Given the description of an element on the screen output the (x, y) to click on. 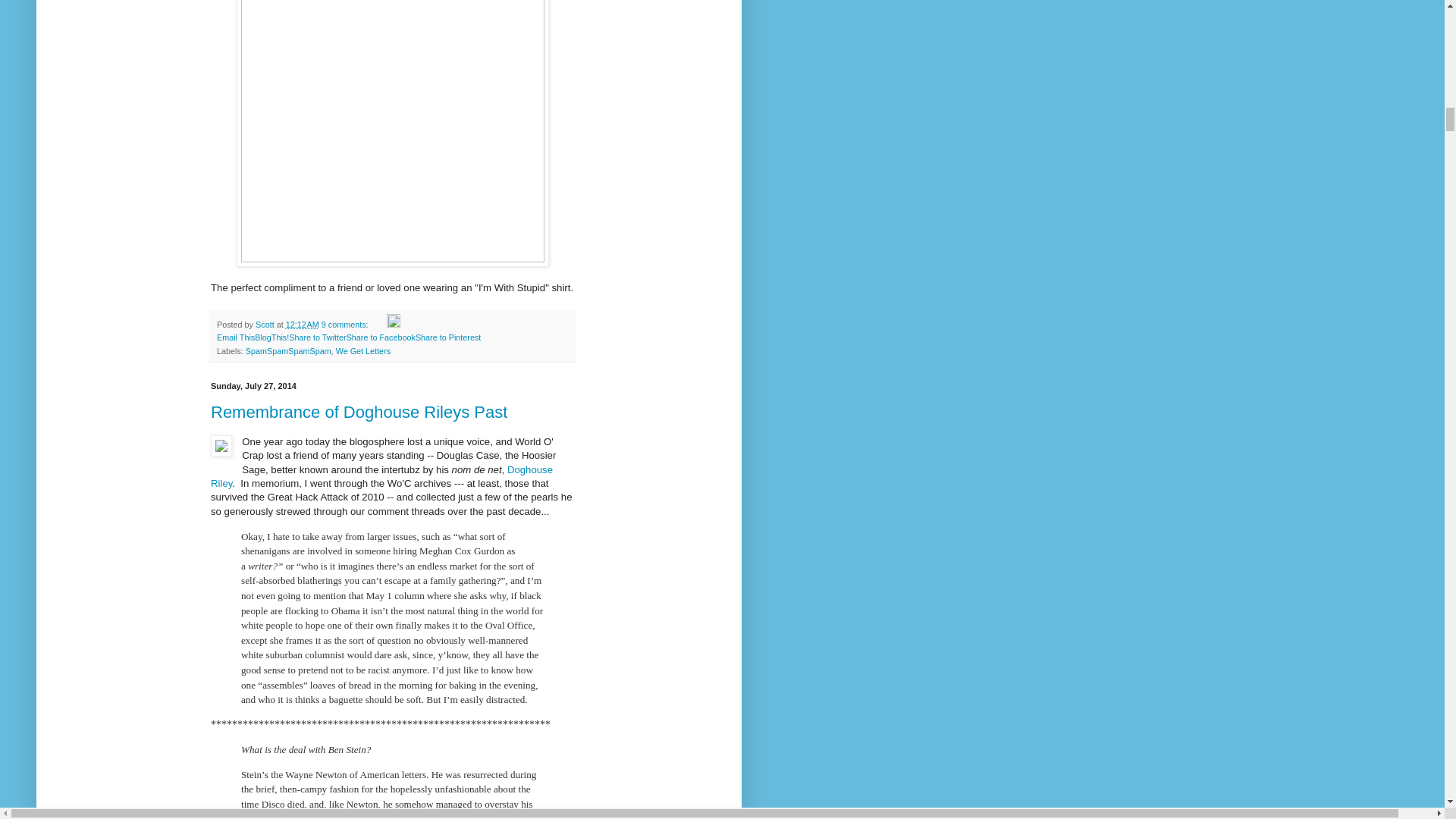
SpamSpamSpamSpam (288, 350)
BlogThis! (271, 337)
Remembrance of Doghouse Rileys Past (358, 411)
Doghouse Riley (382, 476)
Email This (235, 337)
BlogThis! (271, 337)
permanent link (301, 324)
Email Post (379, 324)
Share to Pinterest (447, 337)
Edit Post (393, 324)
Share to Twitter (317, 337)
author profile (266, 324)
Share to Facebook (380, 337)
Email This (235, 337)
Scott (266, 324)
